Given the description of an element on the screen output the (x, y) to click on. 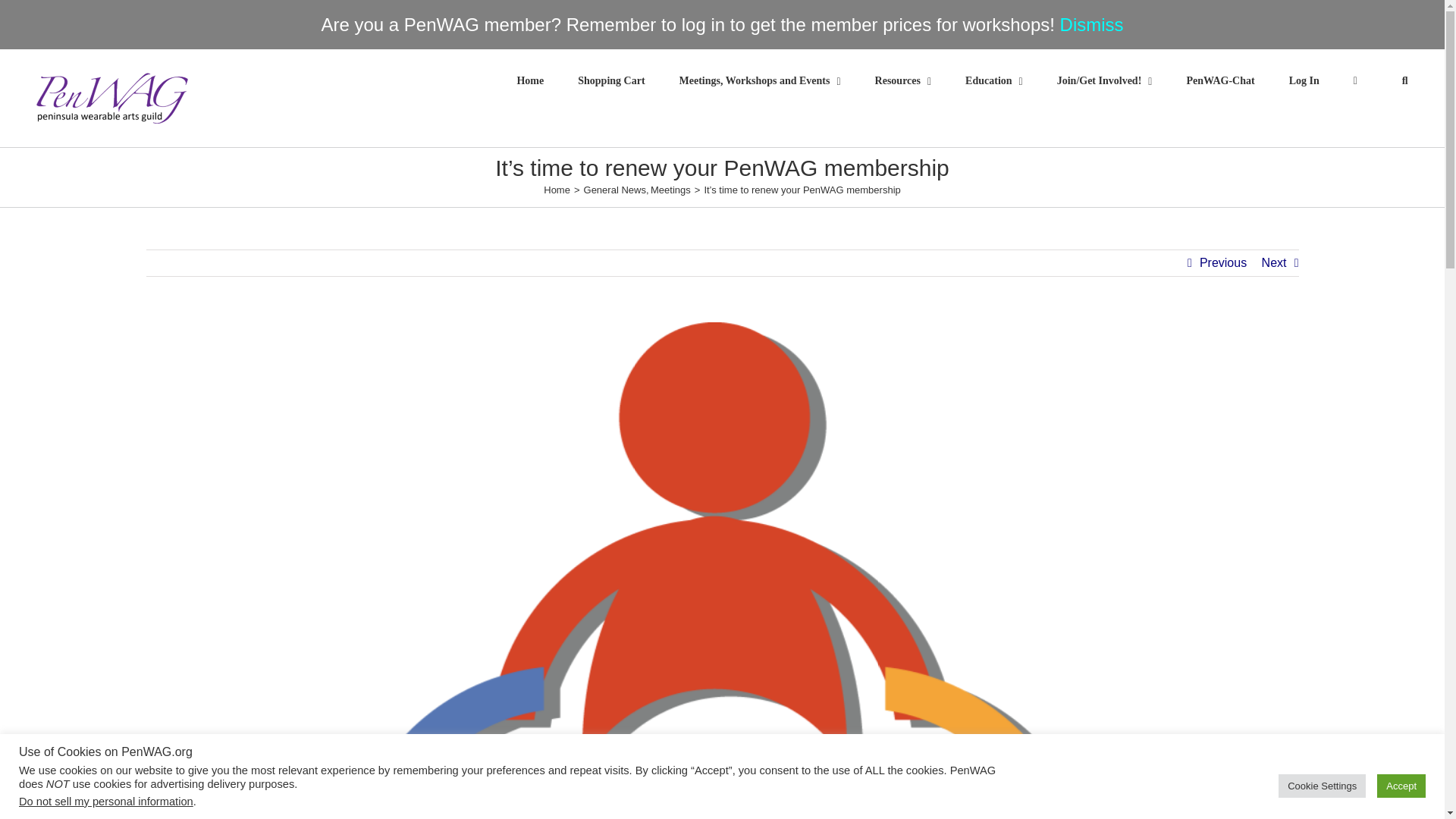
Log In (1303, 81)
Resources (903, 81)
Shopping Cart (611, 81)
Home (529, 81)
Education (994, 81)
PenWAG-Chat (1219, 81)
Search (1404, 81)
Meetings, Workshops and Events (760, 81)
